Given the description of an element on the screen output the (x, y) to click on. 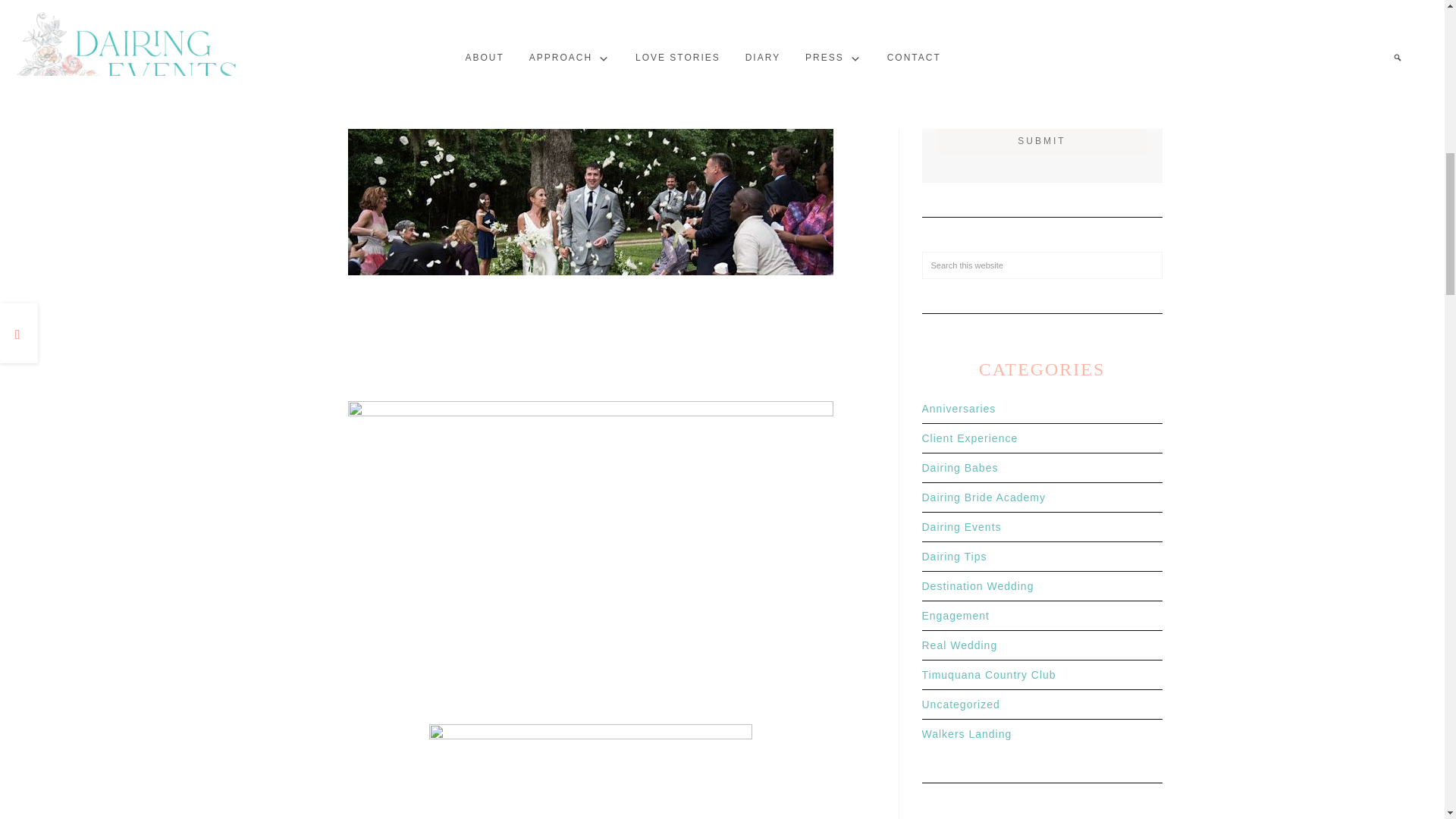
SUBMIT (1042, 140)
SUBMIT (1042, 140)
